Given the description of an element on the screen output the (x, y) to click on. 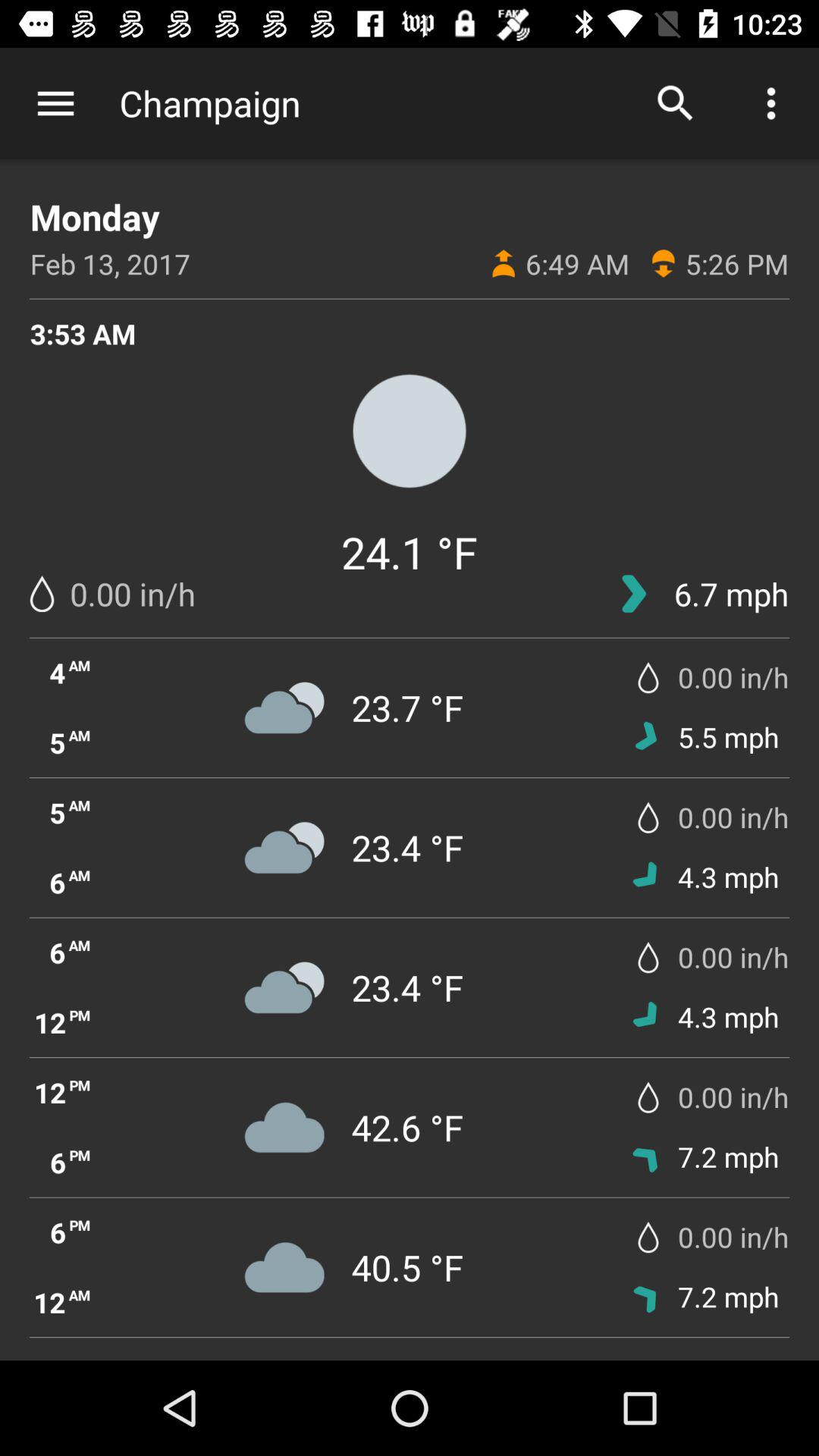
menu items (55, 103)
